Given the description of an element on the screen output the (x, y) to click on. 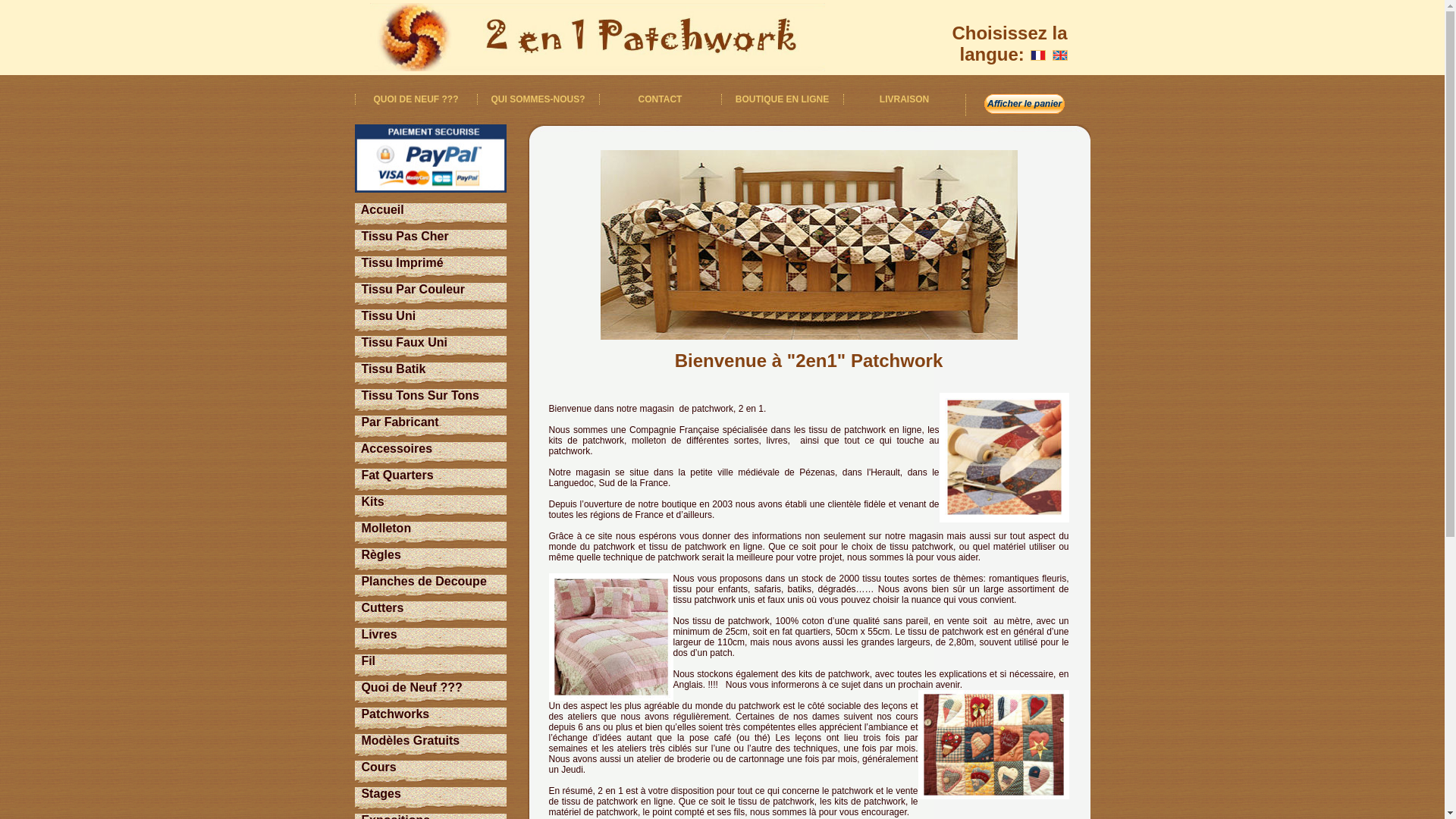
  Accueil Element type: text (379, 209)
  Livres Element type: text (375, 633)
  Tissu Element type: text (375, 315)
  Kits Element type: text (369, 501)
  Patchworks Element type: text (391, 713)
Uni Element type: text (405, 315)
  Fil Element type: text (365, 660)
  Planches de Decoupe Element type: text (420, 580)
BOUTIQUE EN LIGNE Element type: text (781, 99)
CONTACT Element type: text (660, 99)
2en1 Element type: hover (597, 37)
LIVRAISON Element type: text (903, 99)
  Tissu Pas Cher Element type: text (401, 235)
  Tissu Batik Element type: text (390, 368)
  Stages Element type: text (377, 793)
  Cutters Element type: text (379, 607)
Par Couleur Element type: text (429, 288)
  Tissu Element type: text (375, 288)
  Quoi de Neuf ??? Element type: text (408, 686)
  Fat Quarters Element type: text (393, 474)
  Cours Element type: text (375, 766)
QUOI DE NEUF ??? Element type: text (415, 99)
  Tissu Tons Sur Tons Element type: text (416, 395)
  Tissu Faux Uni Element type: text (400, 341)
  Molleton Element type: text (382, 527)
  Accessoires Element type: text (393, 448)
  Par Fabricant Element type: text (396, 421)
QUI SOMMES-NOUS? Element type: text (537, 99)
